Given the description of an element on the screen output the (x, y) to click on. 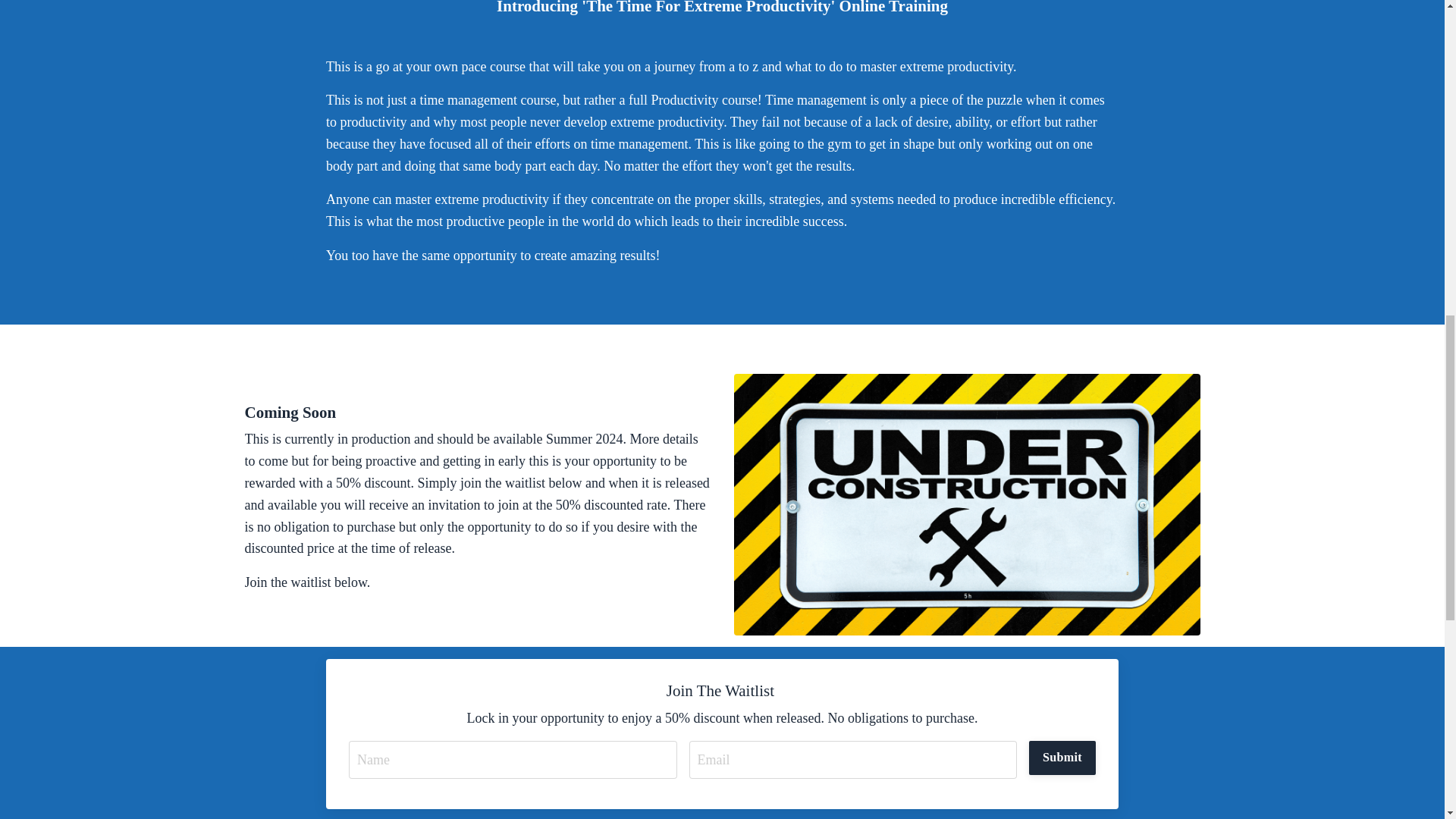
Submit (1062, 757)
